Given the description of an element on the screen output the (x, y) to click on. 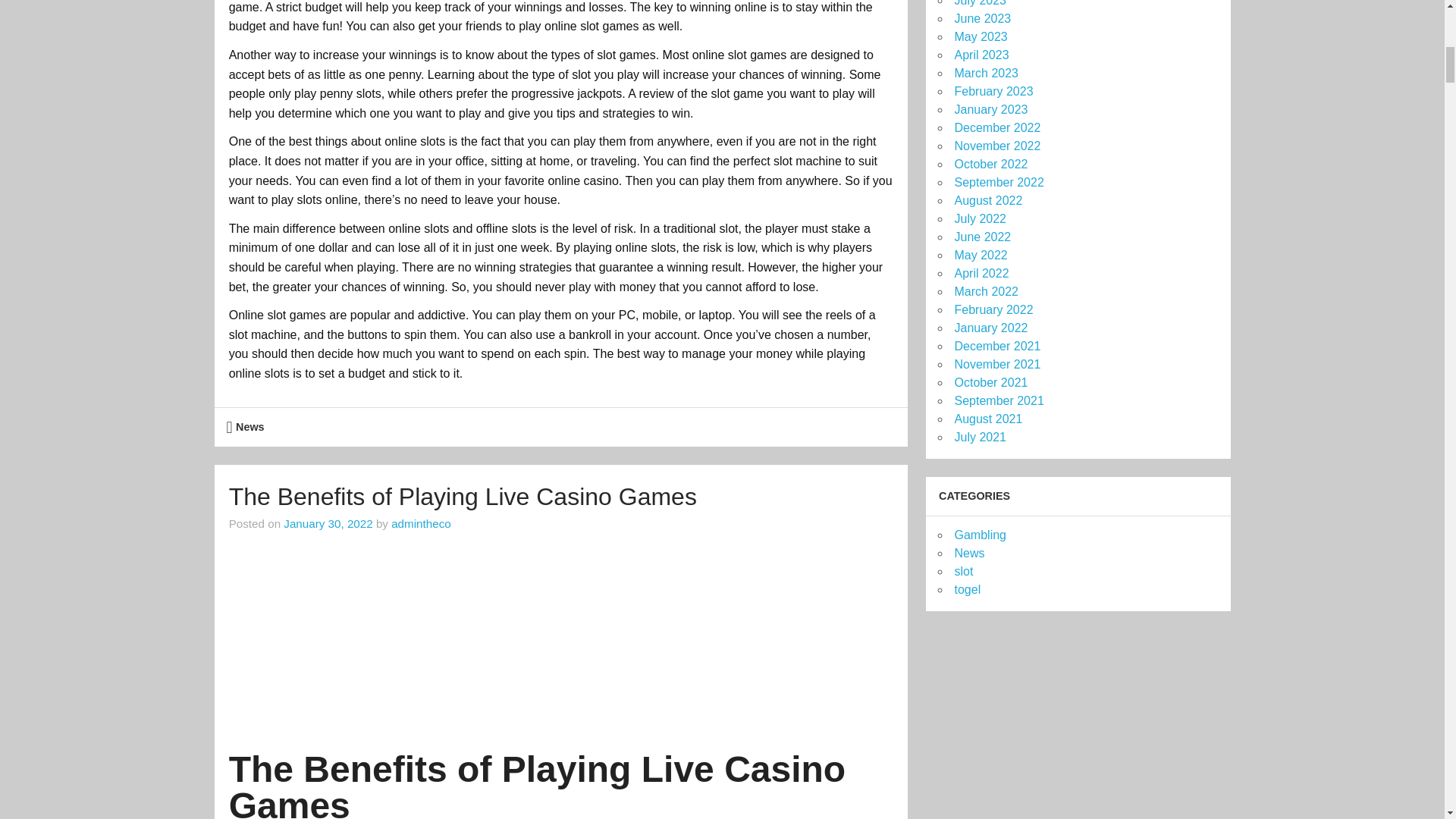
11:31 pm (327, 522)
January 30, 2022 (327, 522)
View all posts by admintheco (421, 522)
admintheco (421, 522)
The Benefits of Playing Live Casino Games (462, 495)
News (249, 426)
